Given the description of an element on the screen output the (x, y) to click on. 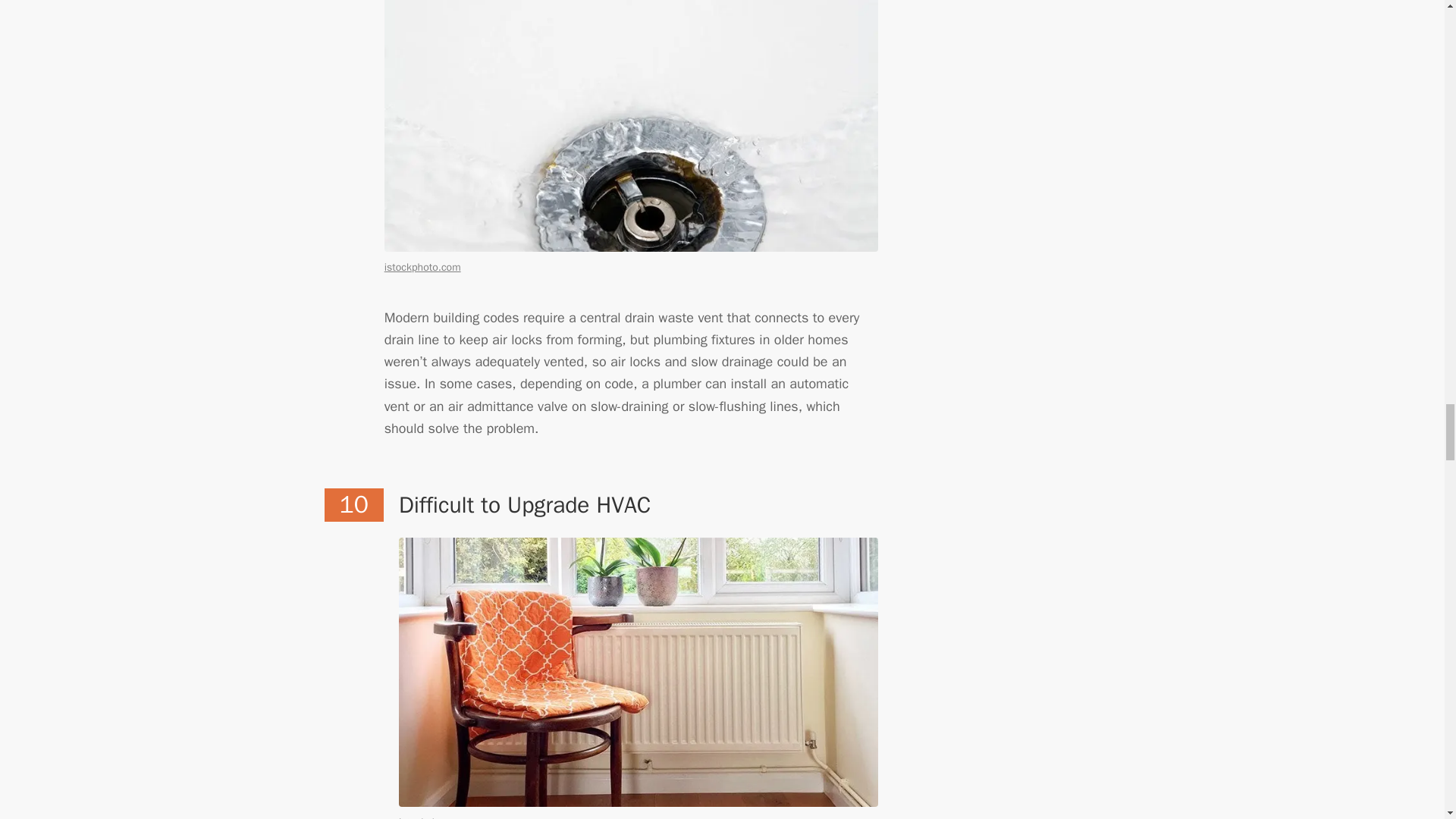
istockphoto.com (437, 817)
istockphoto.com (422, 267)
